Given the description of an element on the screen output the (x, y) to click on. 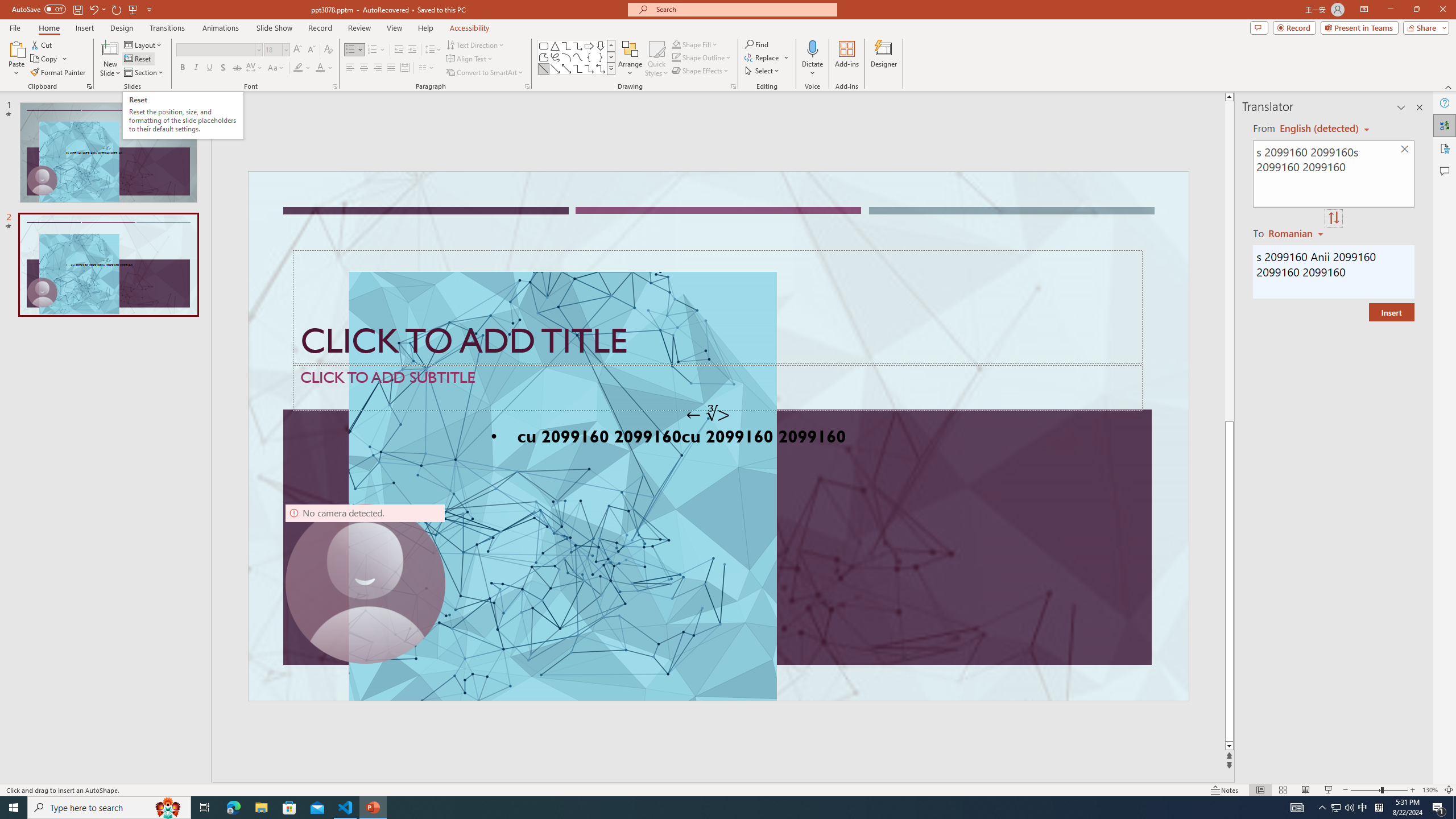
Terminal actions (1050, 533)
Class: actions-container (752, 151)
Terminal (Ctrl+`) (579, 533)
remote (69, 766)
